Given the description of an element on the screen output the (x, y) to click on. 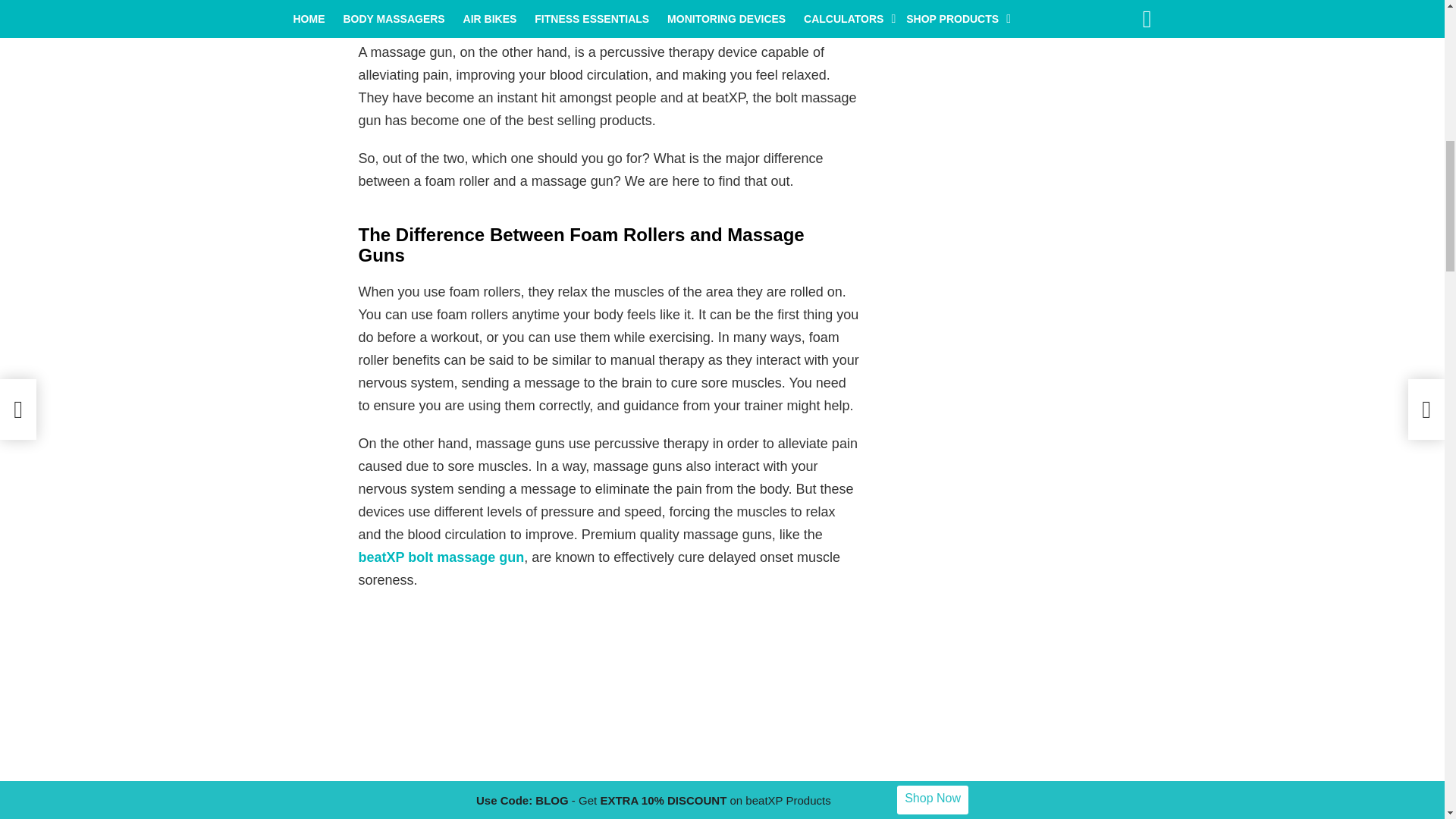
beatXP bolt massage gun (441, 556)
